Given the description of an element on the screen output the (x, y) to click on. 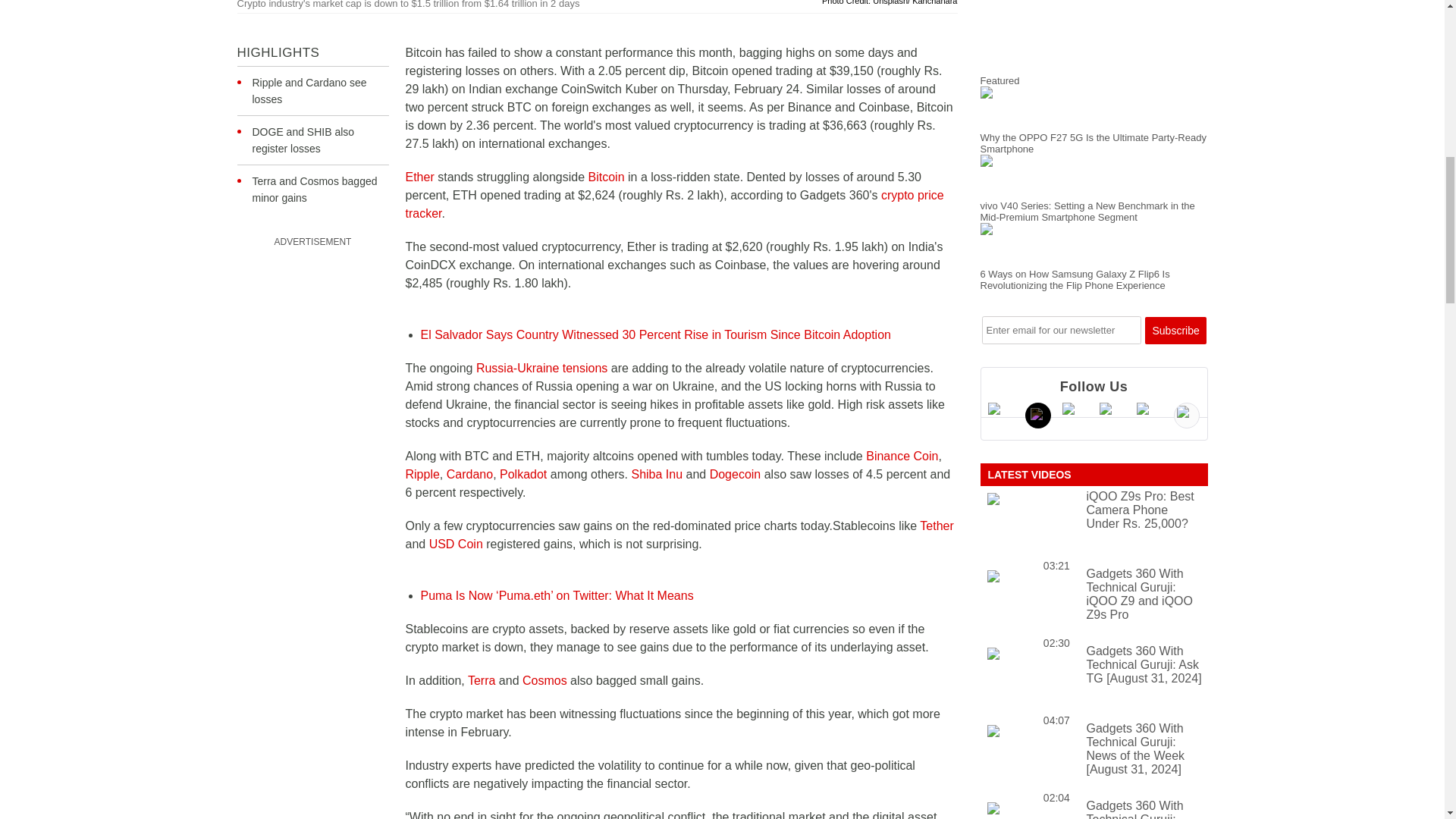
Ripple (421, 473)
crypto price tracker (673, 204)
Ether (418, 176)
Binance Coin (901, 455)
Polkadot (523, 473)
Dogecoin (735, 473)
USD Coin (456, 543)
Shiba Inu (656, 473)
Subscribe (1175, 329)
Cosmos (544, 680)
